Given the description of an element on the screen output the (x, y) to click on. 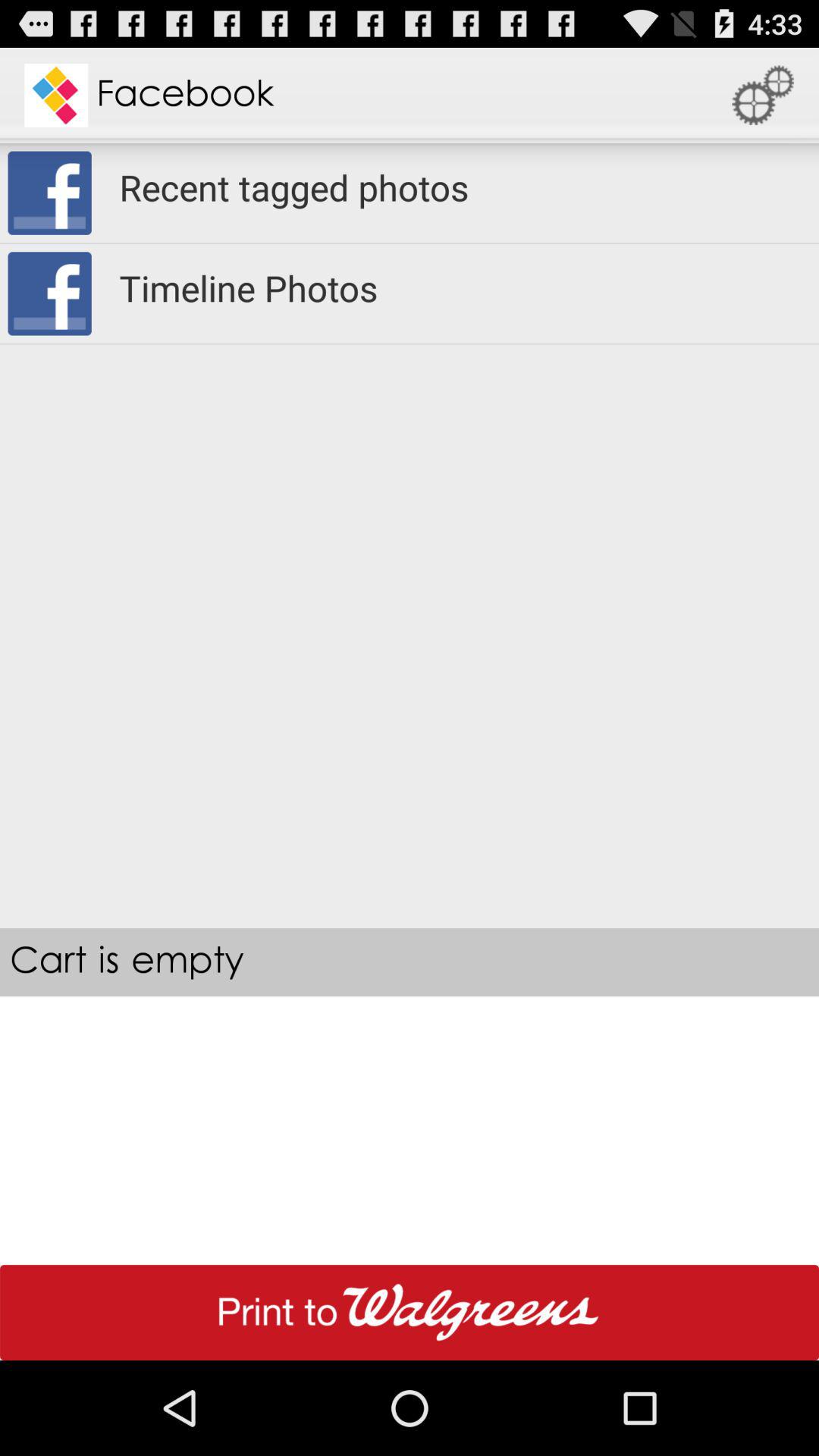
open recent tagged photos (459, 187)
